Given the description of an element on the screen output the (x, y) to click on. 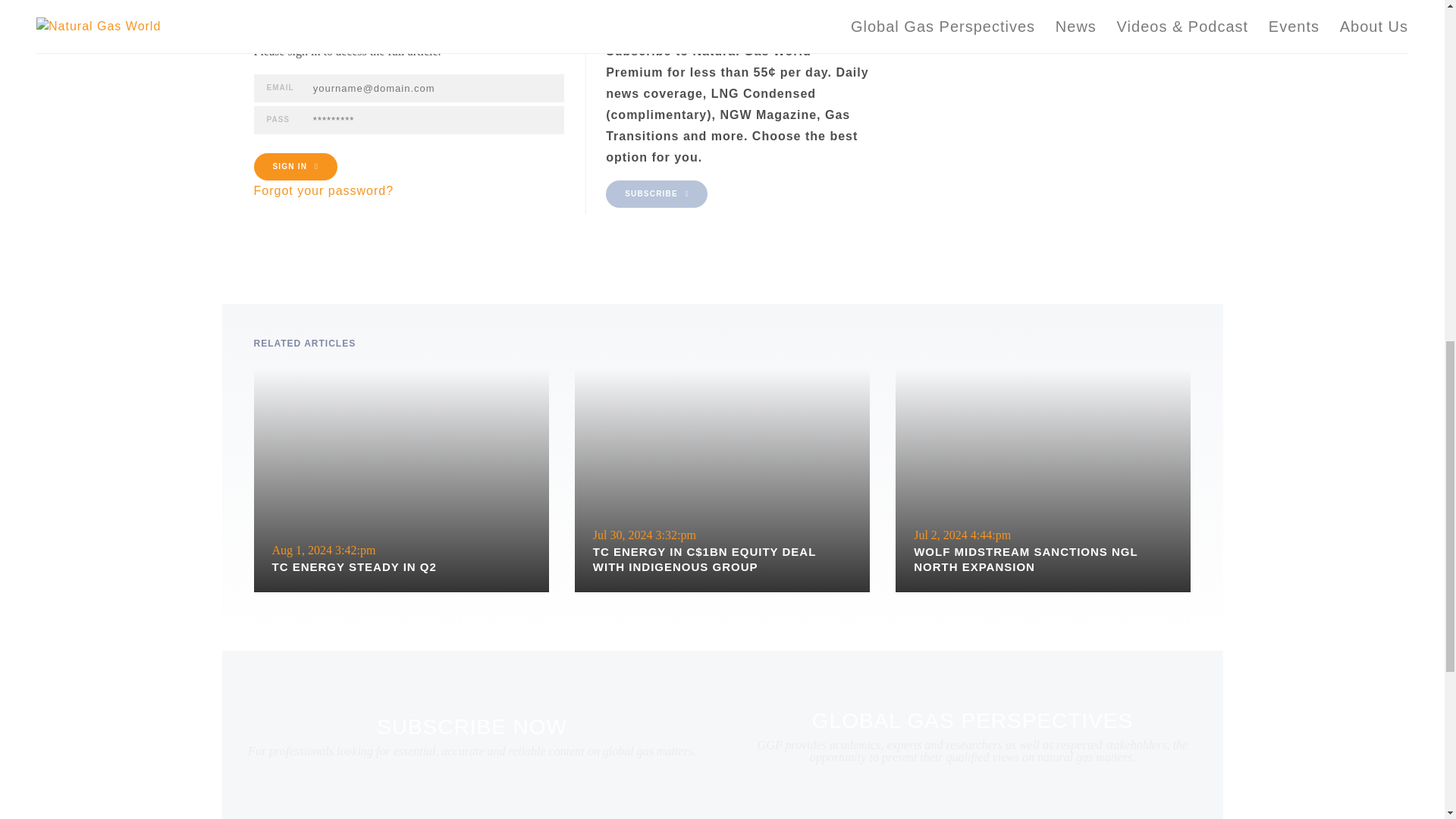
SUBSCRIBE (656, 194)
Forgot your password? (323, 190)
SIGN IN (294, 166)
